Given the description of an element on the screen output the (x, y) to click on. 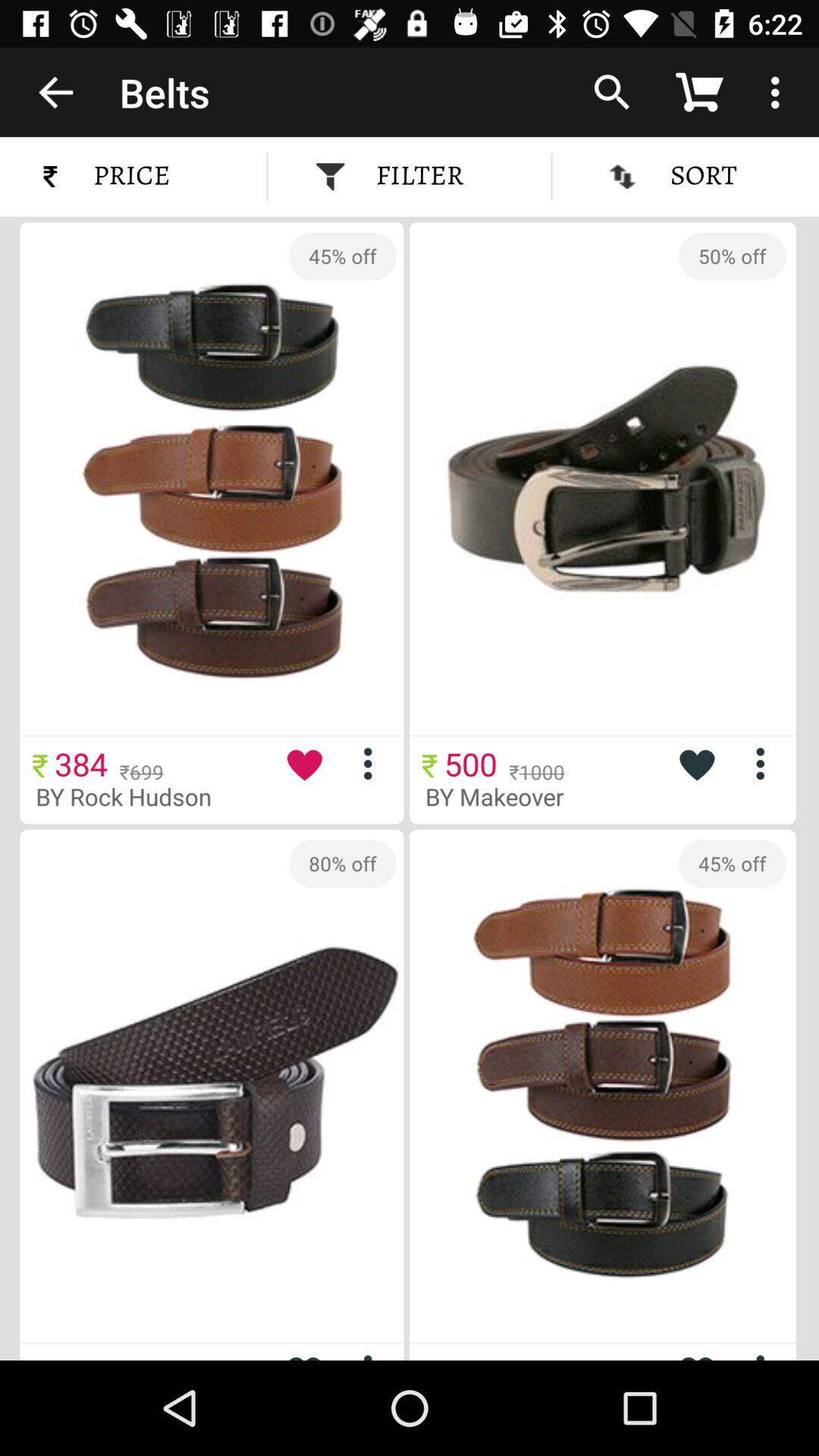
choose the icon to the right of filter item (611, 92)
